Given the description of an element on the screen output the (x, y) to click on. 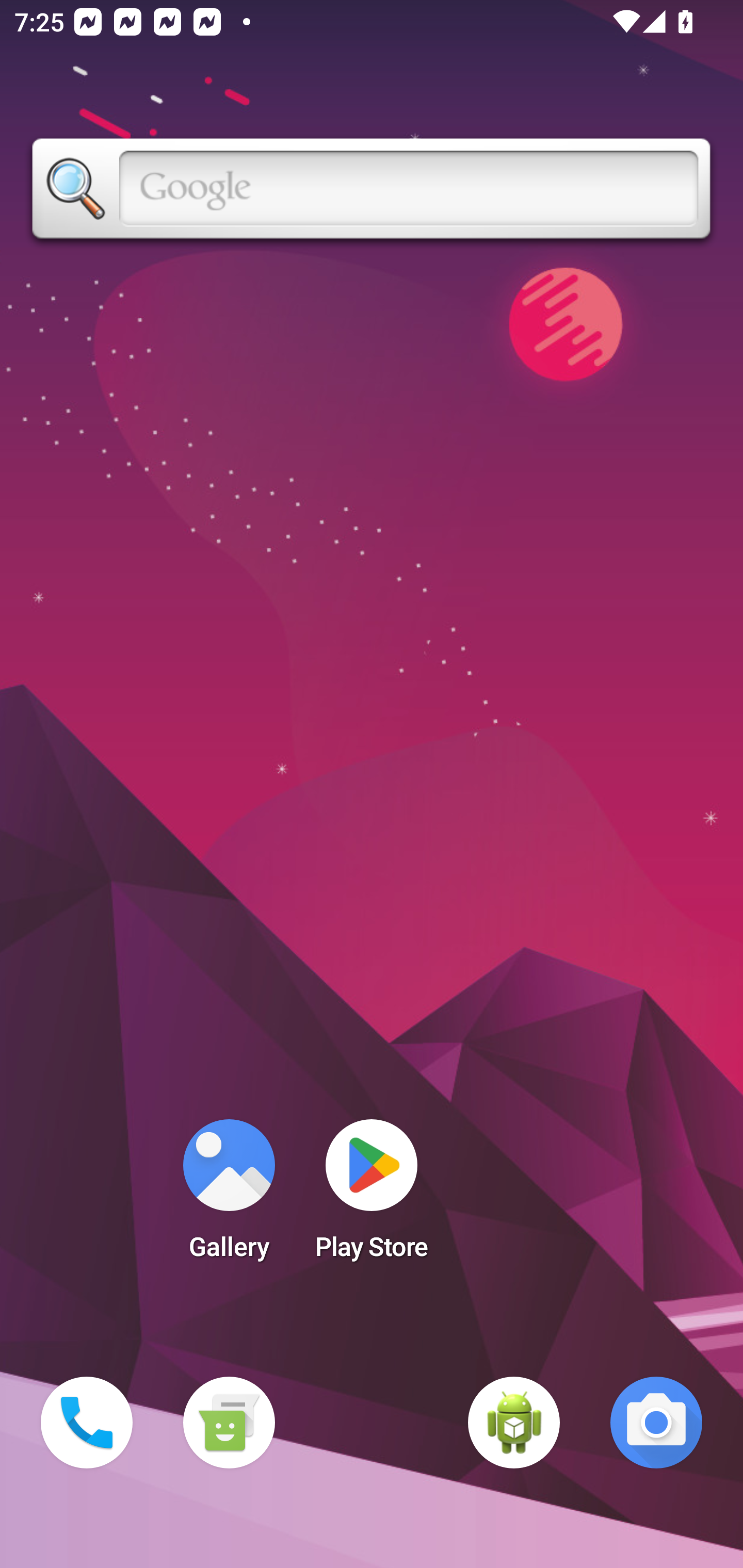
Gallery (228, 1195)
Play Store (371, 1195)
Phone (86, 1422)
Messaging (228, 1422)
WebView Browser Tester (513, 1422)
Camera (656, 1422)
